Given the description of an element on the screen output the (x, y) to click on. 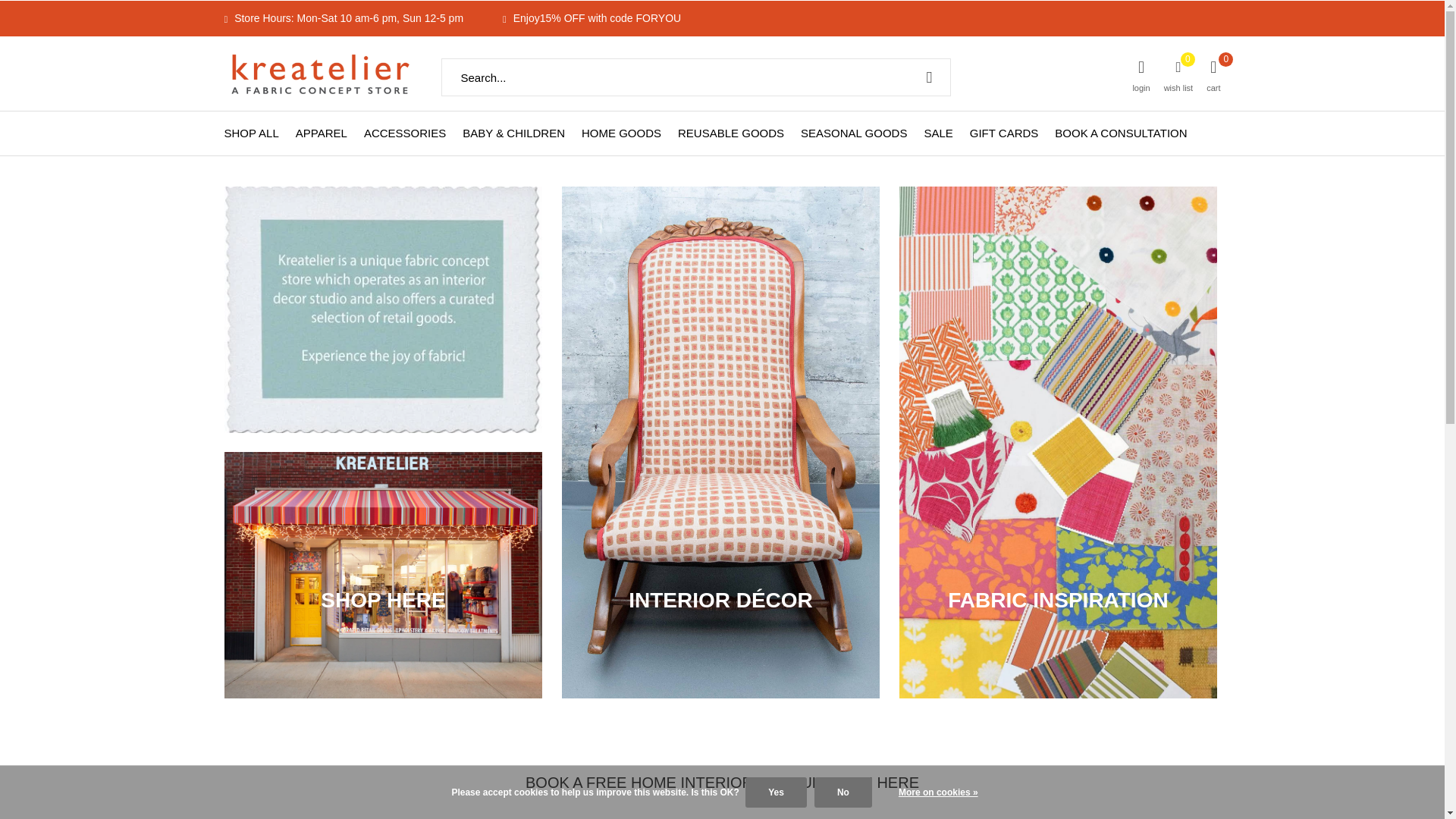
SHOP ALL (251, 132)
More on cookies (937, 792)
Yes (775, 792)
No (842, 792)
